Given the description of an element on the screen output the (x, y) to click on. 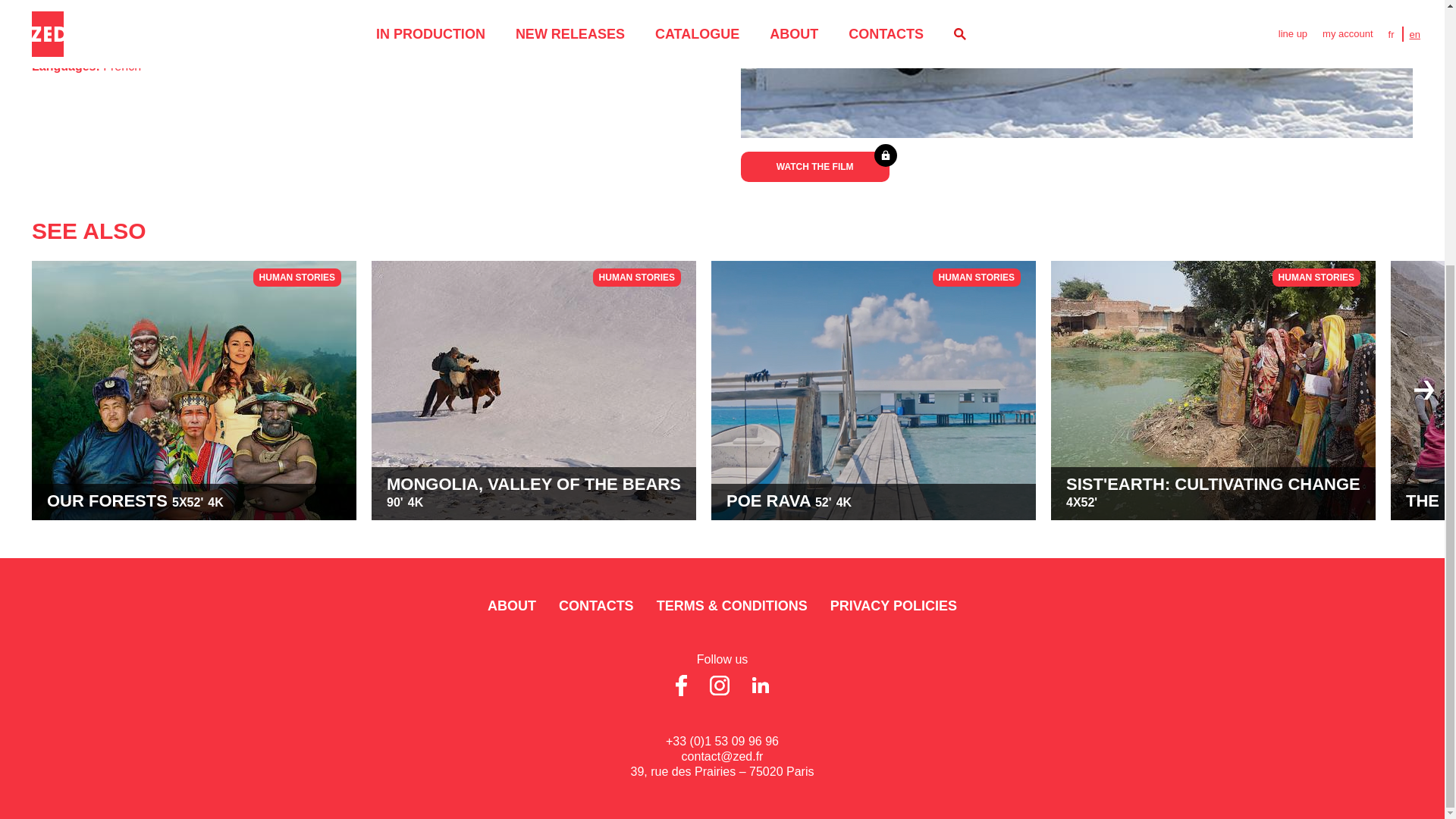
WATCH THE FILM (873, 390)
CONTACTS (815, 166)
ABOUT (596, 605)
PRIVACY POLICIES (1213, 390)
Page 1 (511, 605)
